Given the description of an element on the screen output the (x, y) to click on. 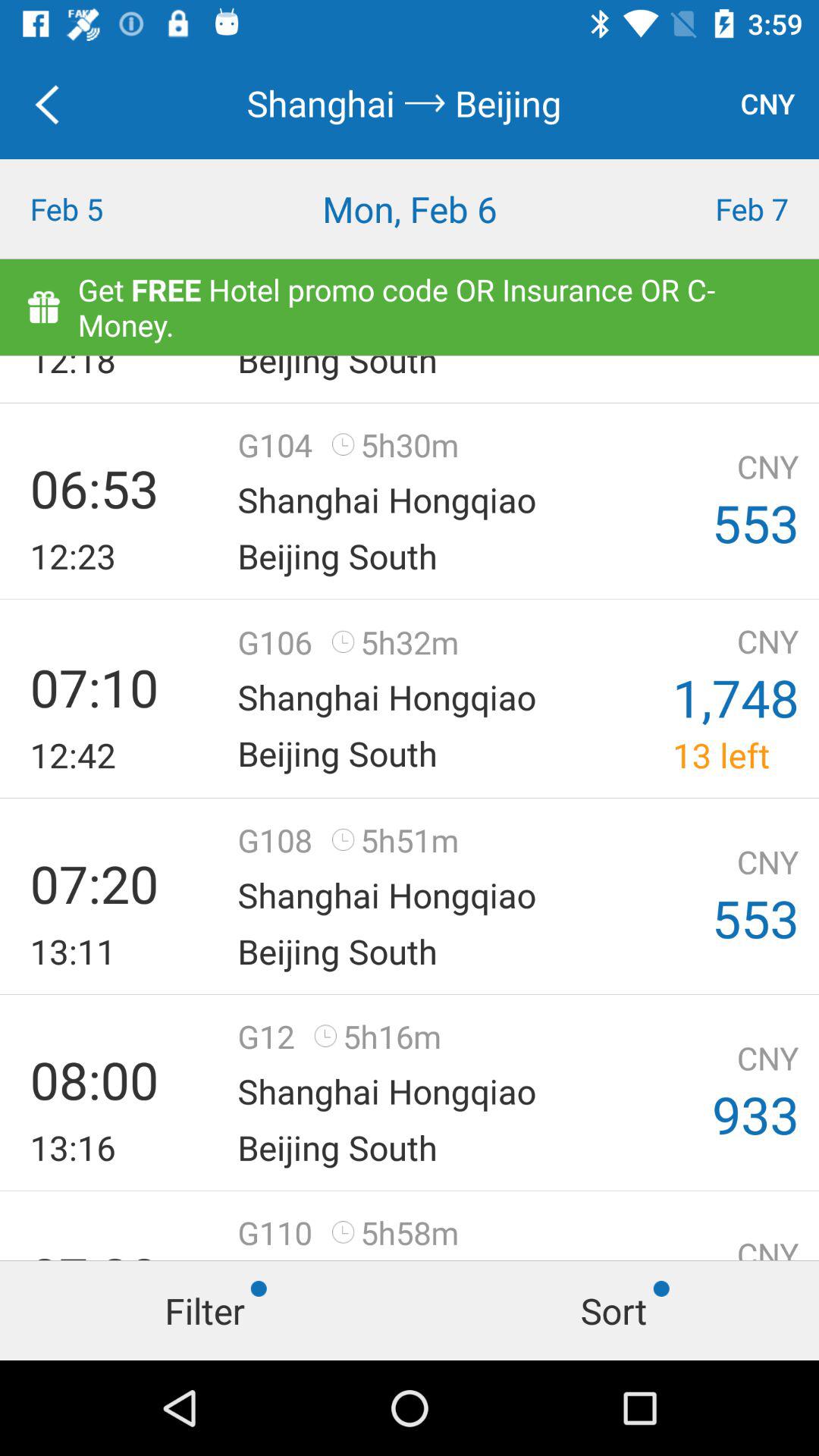
launch the item below shanghai (409, 208)
